Given the description of an element on the screen output the (x, y) to click on. 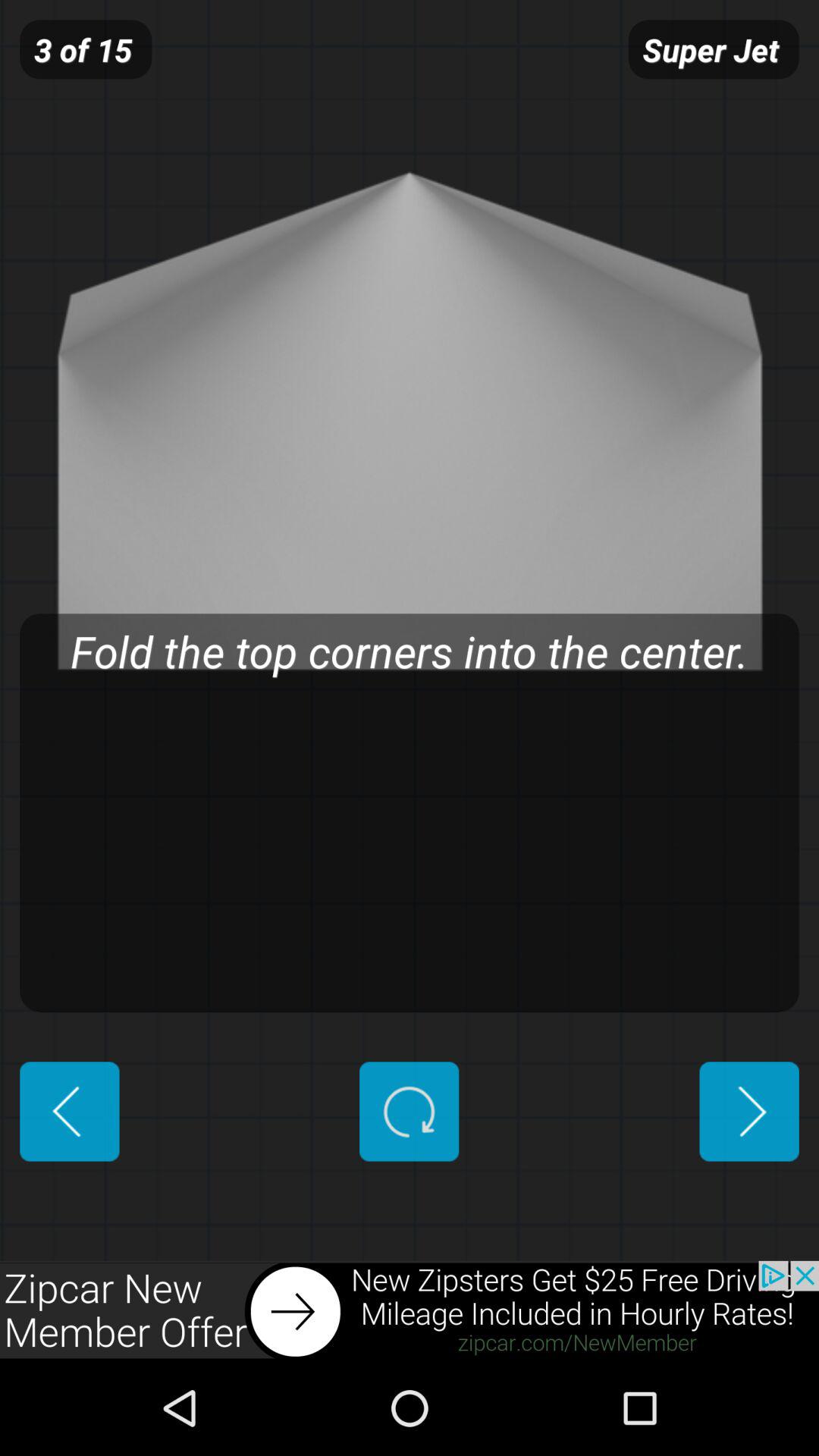
go to previous (69, 1111)
